Given the description of an element on the screen output the (x, y) to click on. 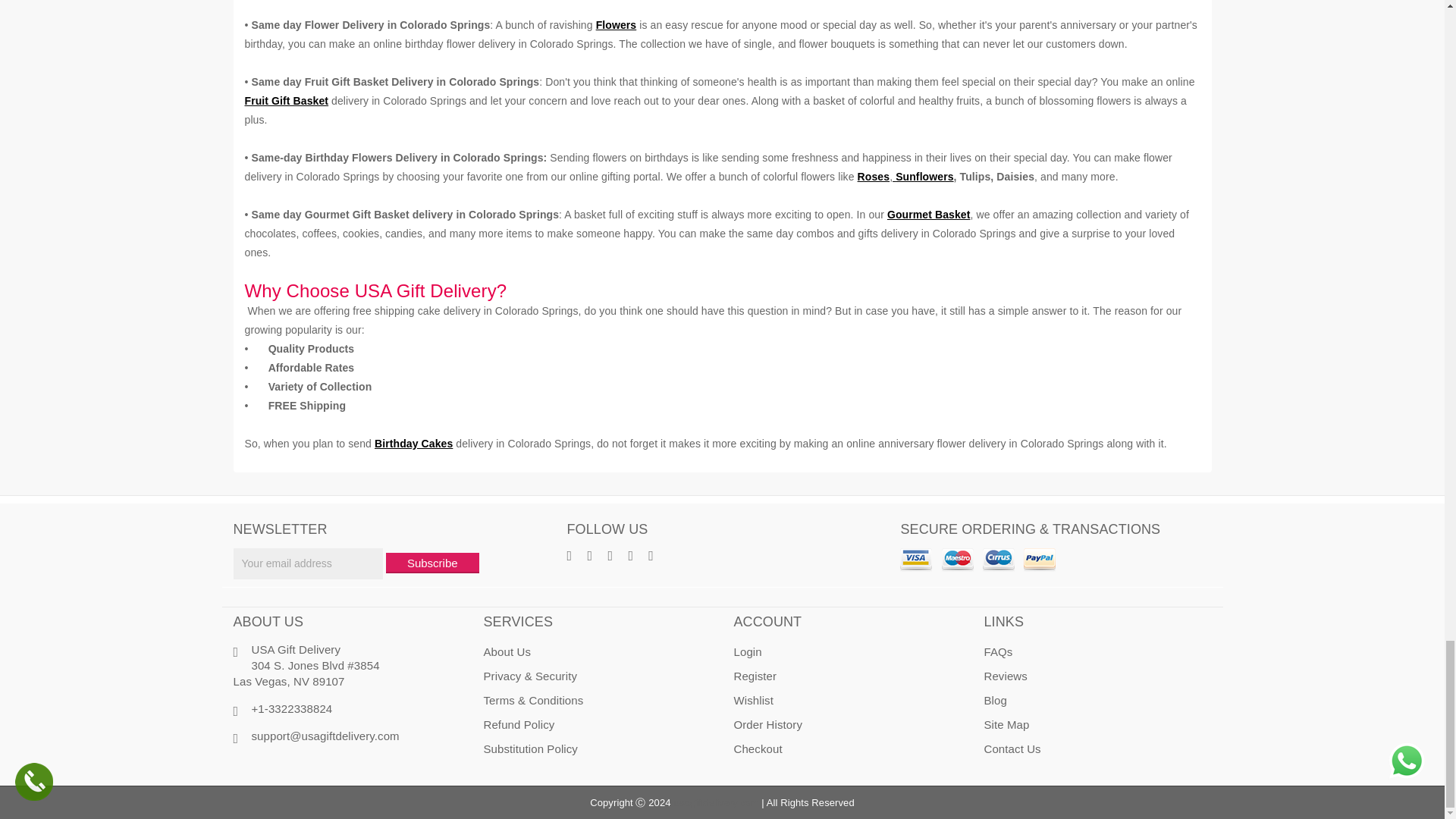
Login (747, 651)
fb:like Facebook Social Plugin (403, 762)
